Given the description of an element on the screen output the (x, y) to click on. 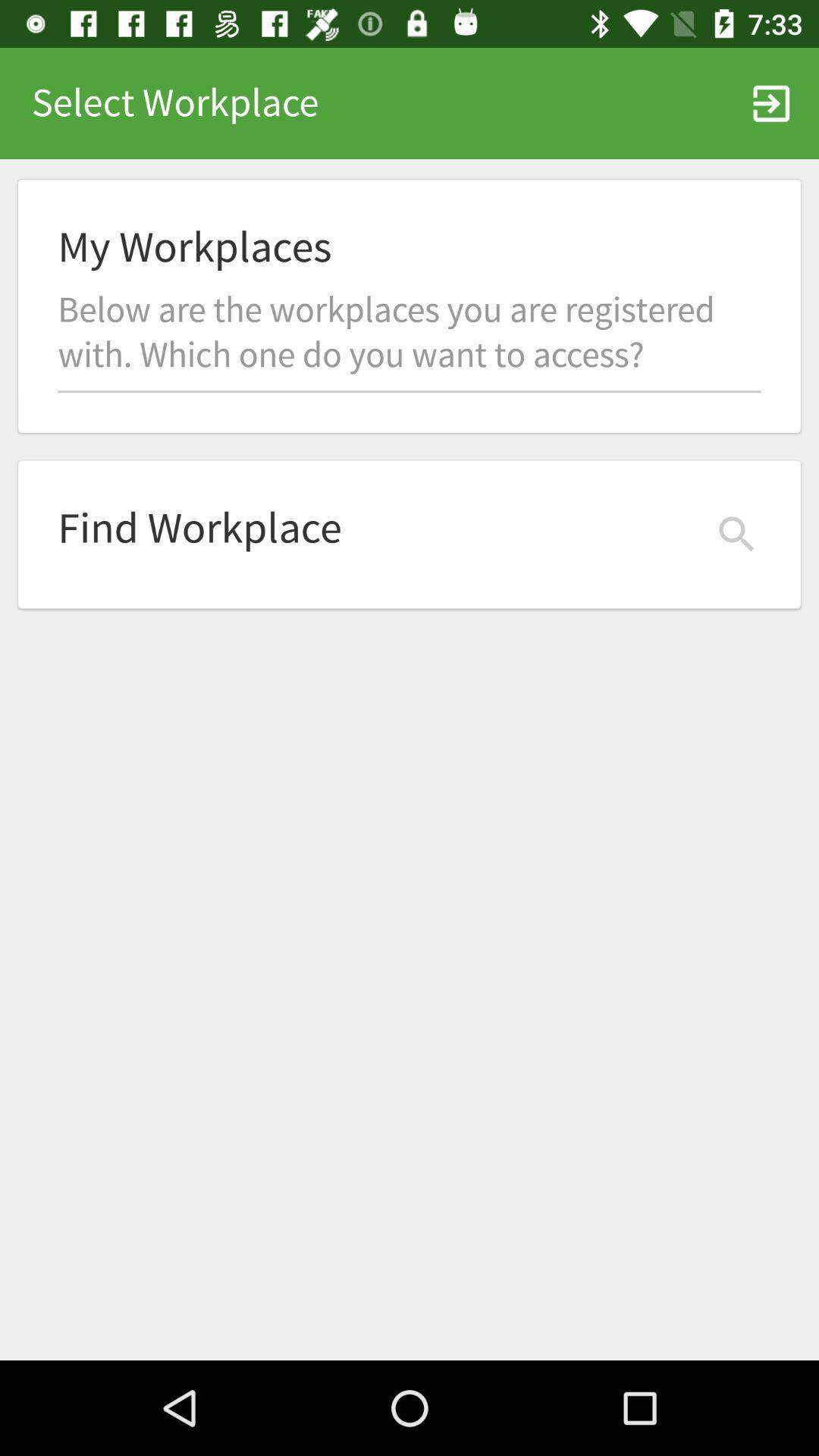
turn on icon to the right of the select workplace item (771, 103)
